Given the description of an element on the screen output the (x, y) to click on. 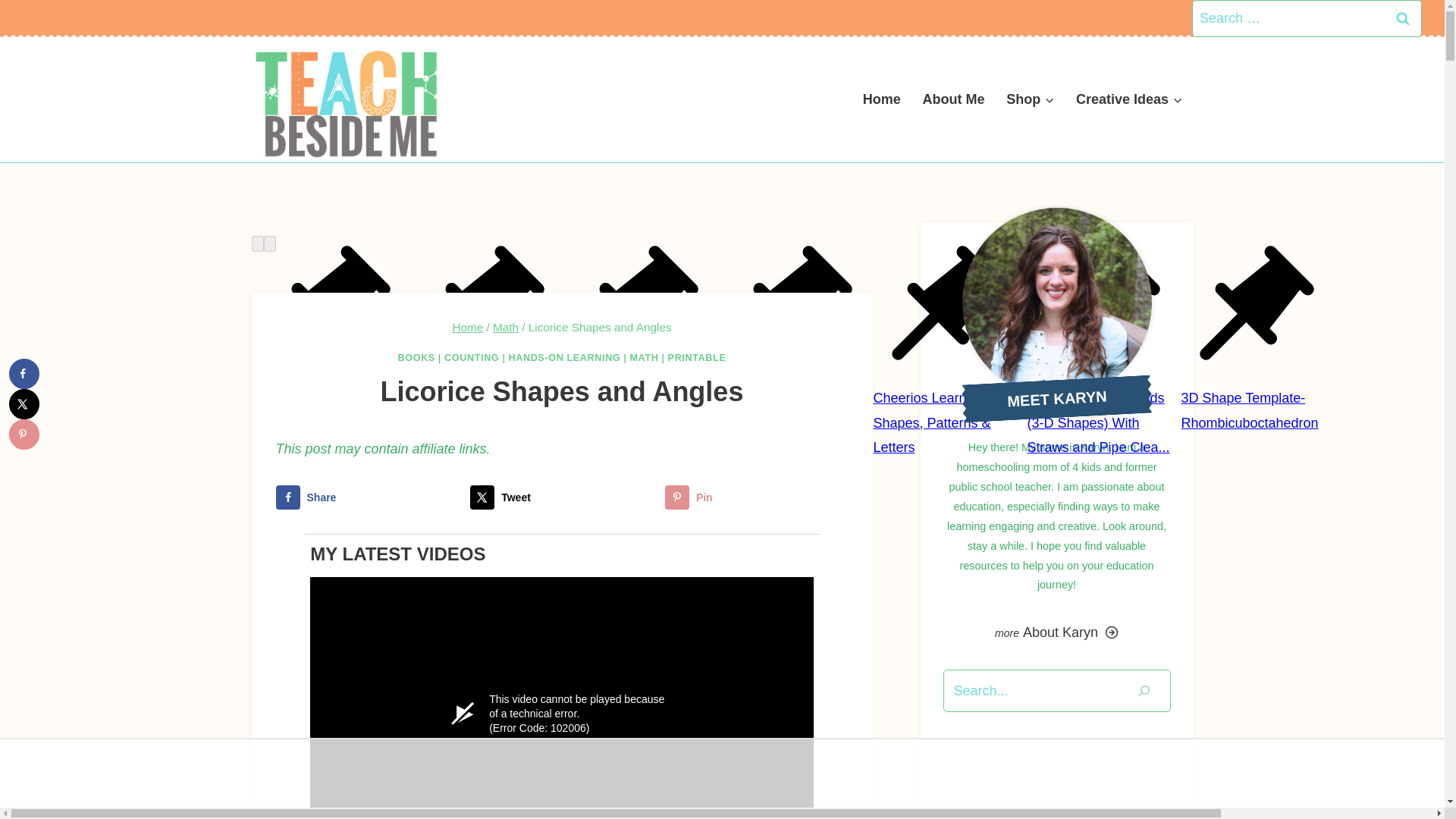
Save to Pinterest (756, 497)
Share on X (561, 497)
Home (467, 327)
Pin (756, 497)
Shop (1030, 98)
PRINTABLE (697, 357)
MATH (643, 357)
HANDS-ON LEARNING (564, 357)
Search (1403, 18)
Home (881, 98)
Share (368, 497)
Share on Facebook (368, 497)
COUNTING (471, 357)
Search (1403, 18)
Tweet (561, 497)
